Given the description of an element on the screen output the (x, y) to click on. 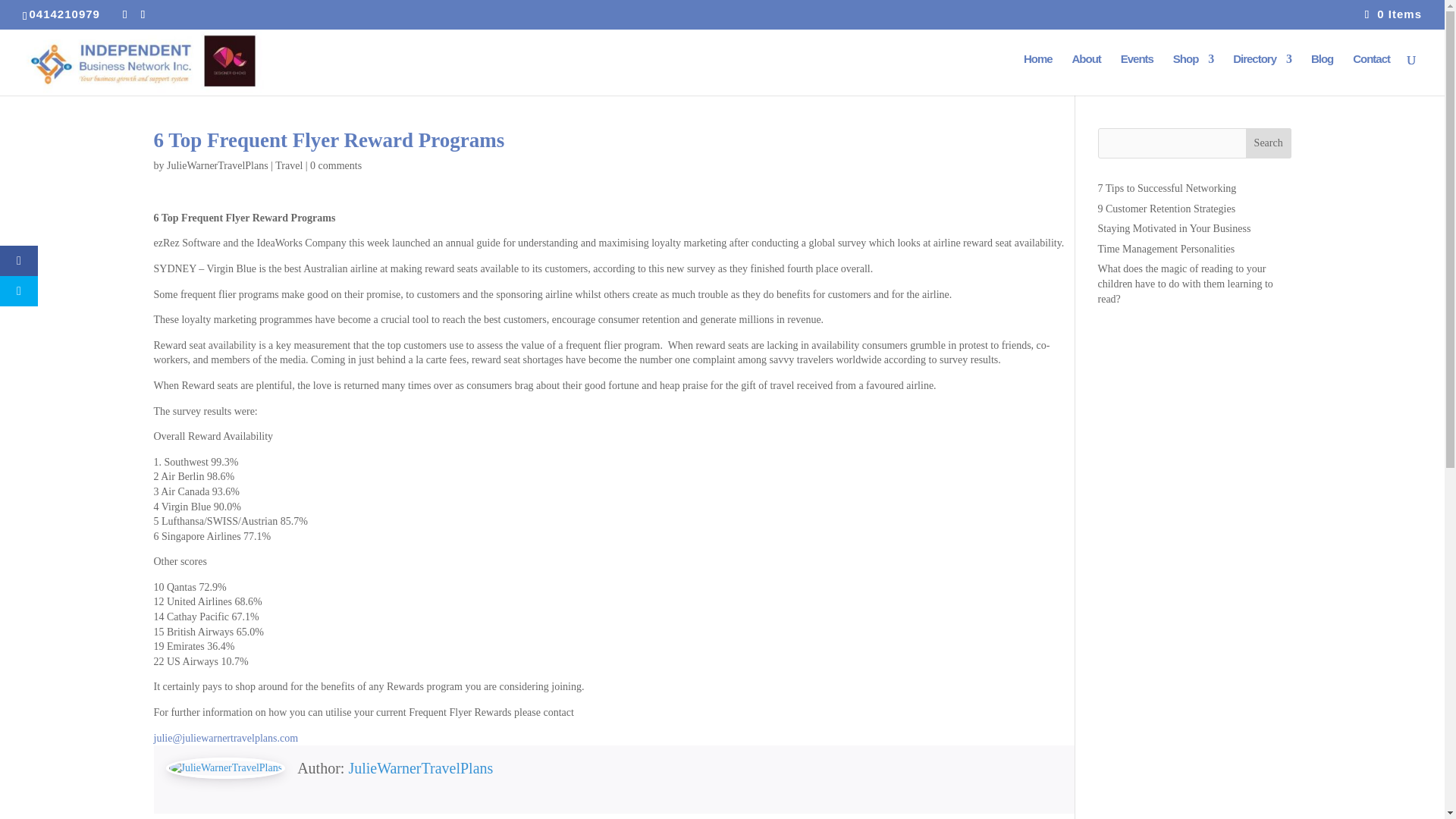
9 Customer Retention Strategies (1166, 208)
Posts by JulieWarnerTravelPlans (217, 165)
Directory (1262, 74)
JulieWarnerTravelPlans (217, 165)
0 Items (1393, 13)
0 comments (335, 165)
Search (1268, 142)
JulieWarnerTravelPlans (420, 768)
Contact (1371, 74)
Time Management Personalities (1165, 248)
7 Tips to Successful Networking (1166, 188)
Shop (1193, 74)
Staying Motivated in Your Business (1173, 228)
Travel (288, 165)
